Given the description of an element on the screen output the (x, y) to click on. 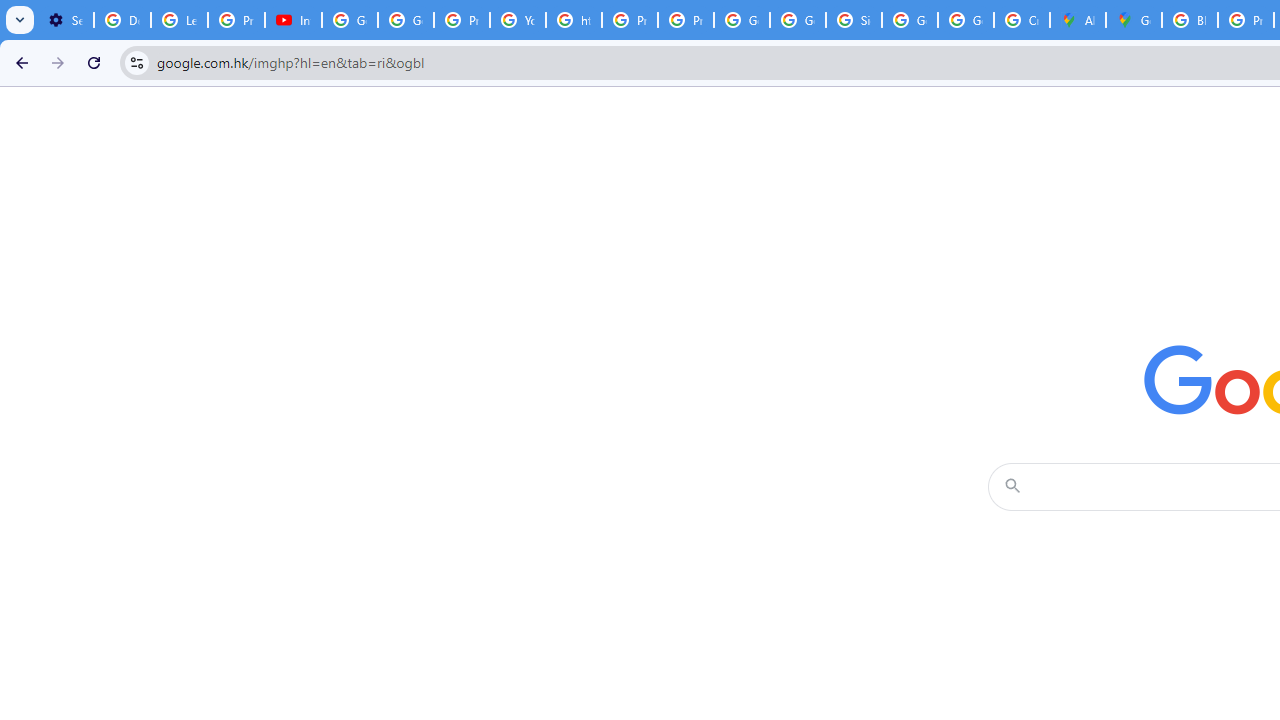
Settings - Customize profile (65, 20)
Privacy Help Center - Policies Help (461, 20)
Introduction | Google Privacy Policy - YouTube (293, 20)
Google Account Help (405, 20)
YouTube (518, 20)
Delete photos & videos - Computer - Google Photos Help (122, 20)
Privacy Help Center - Policies Help (629, 20)
Blogger Policies and Guidelines - Transparency Center (1190, 20)
